Given the description of an element on the screen output the (x, y) to click on. 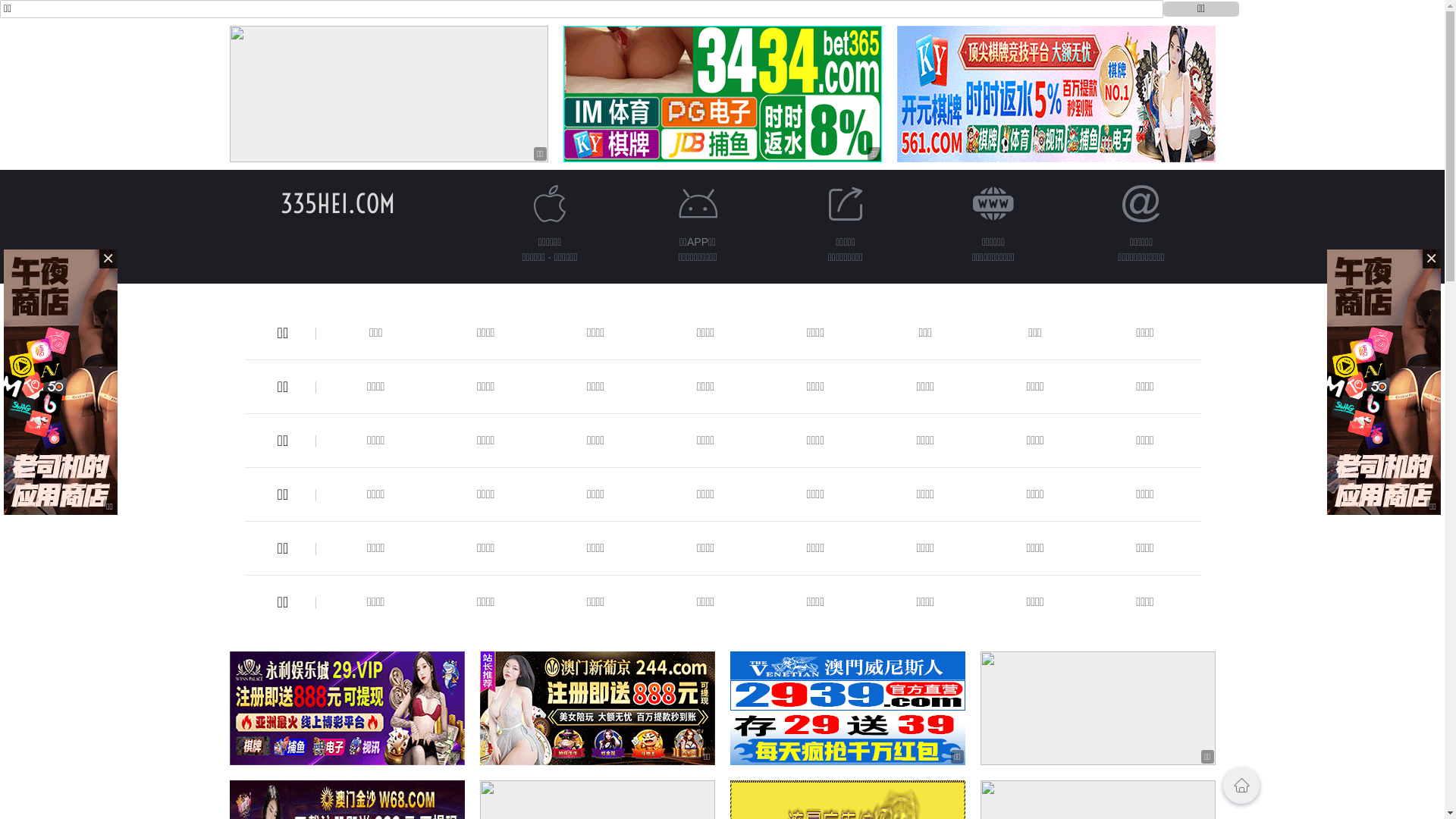
335HEI.COM Element type: text (337, 203)
